Given the description of an element on the screen output the (x, y) to click on. 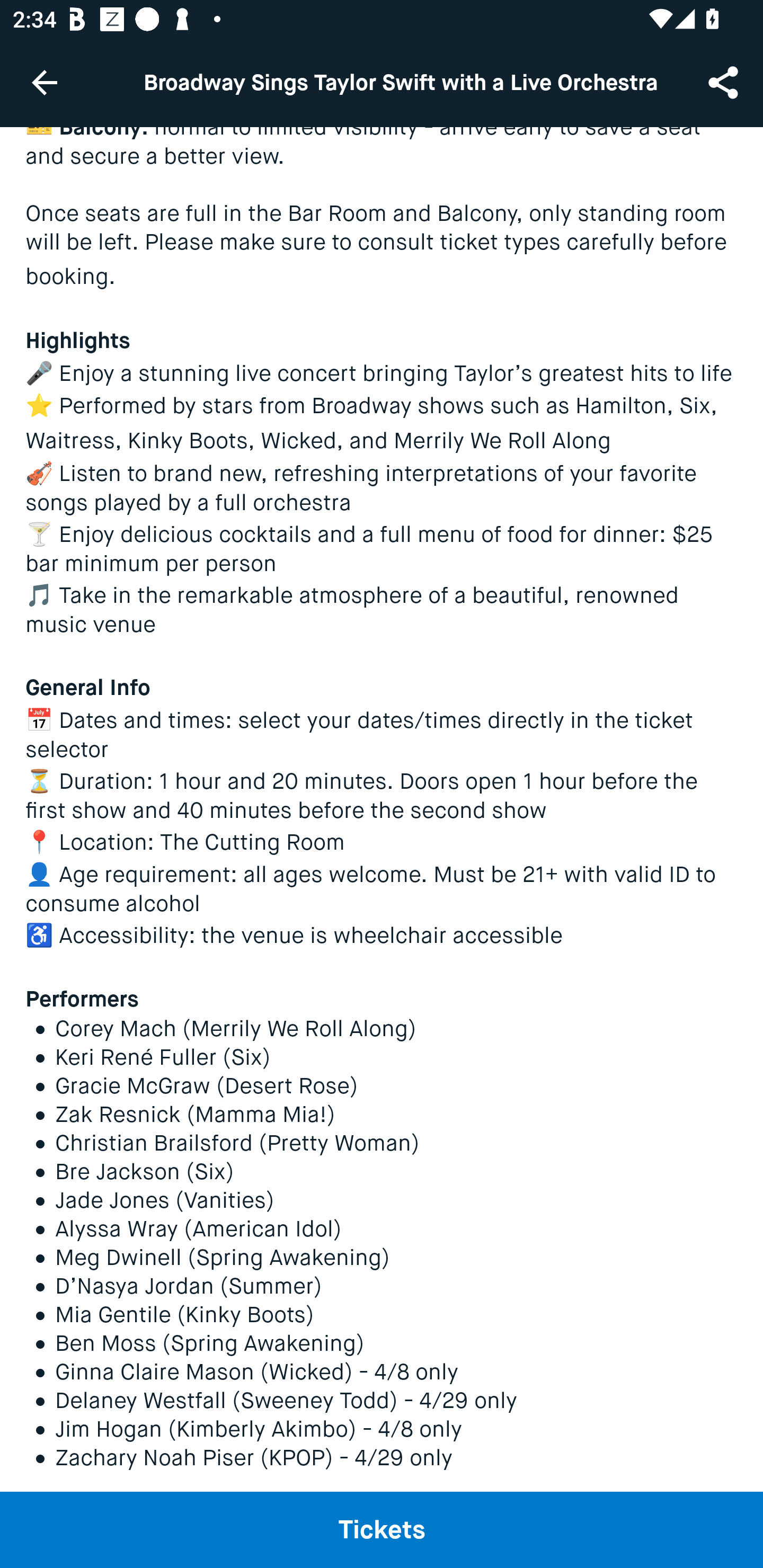
Navigate up (44, 82)
Share (724, 81)
Tickets (381, 1529)
